Given the description of an element on the screen output the (x, y) to click on. 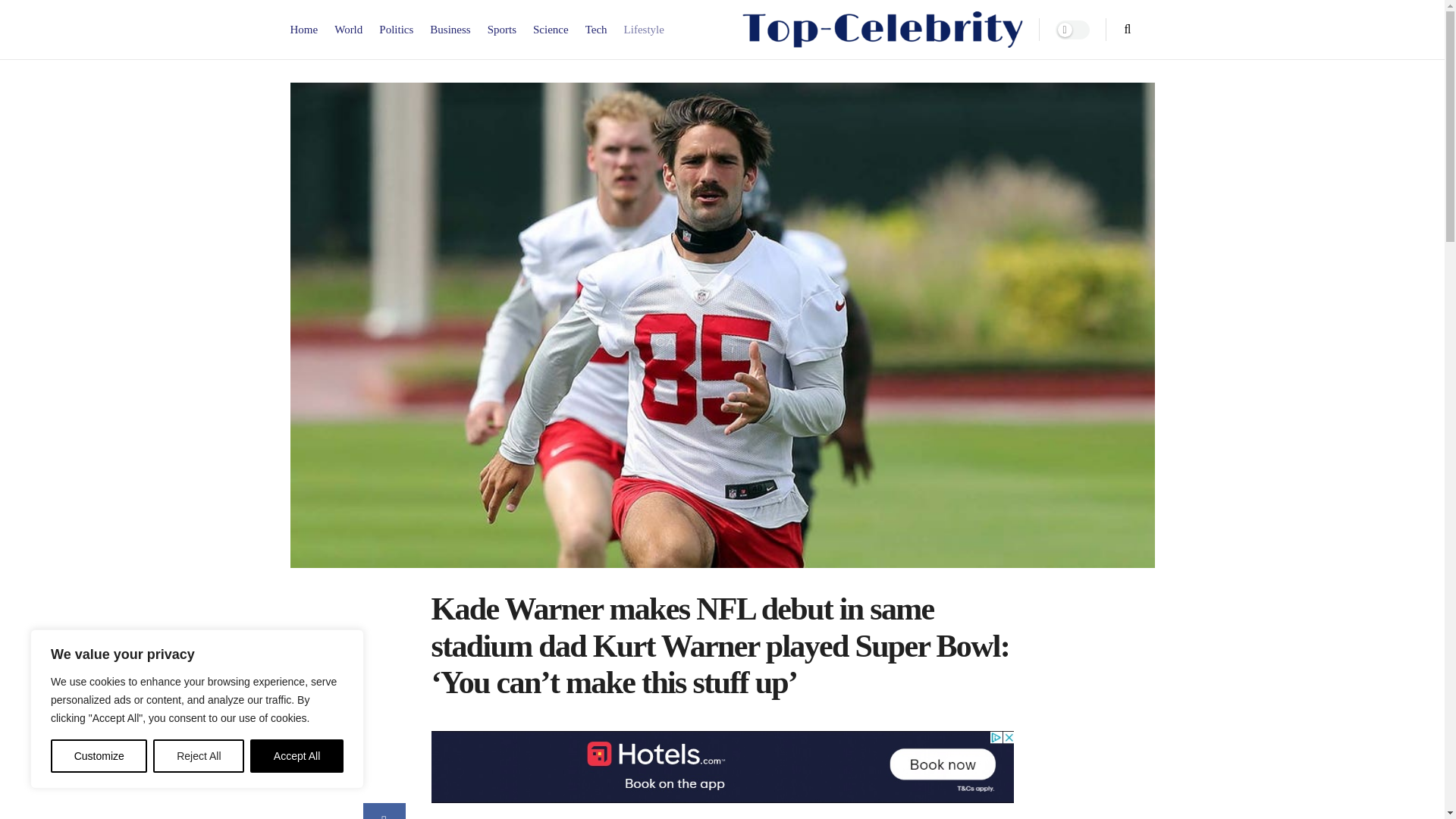
Customize (98, 756)
Sports (501, 29)
Business (449, 29)
Tech (596, 29)
Accept All (296, 756)
World (348, 29)
Home (303, 29)
Reject All (198, 756)
Science (550, 29)
Politics (395, 29)
